Given the description of an element on the screen output the (x, y) to click on. 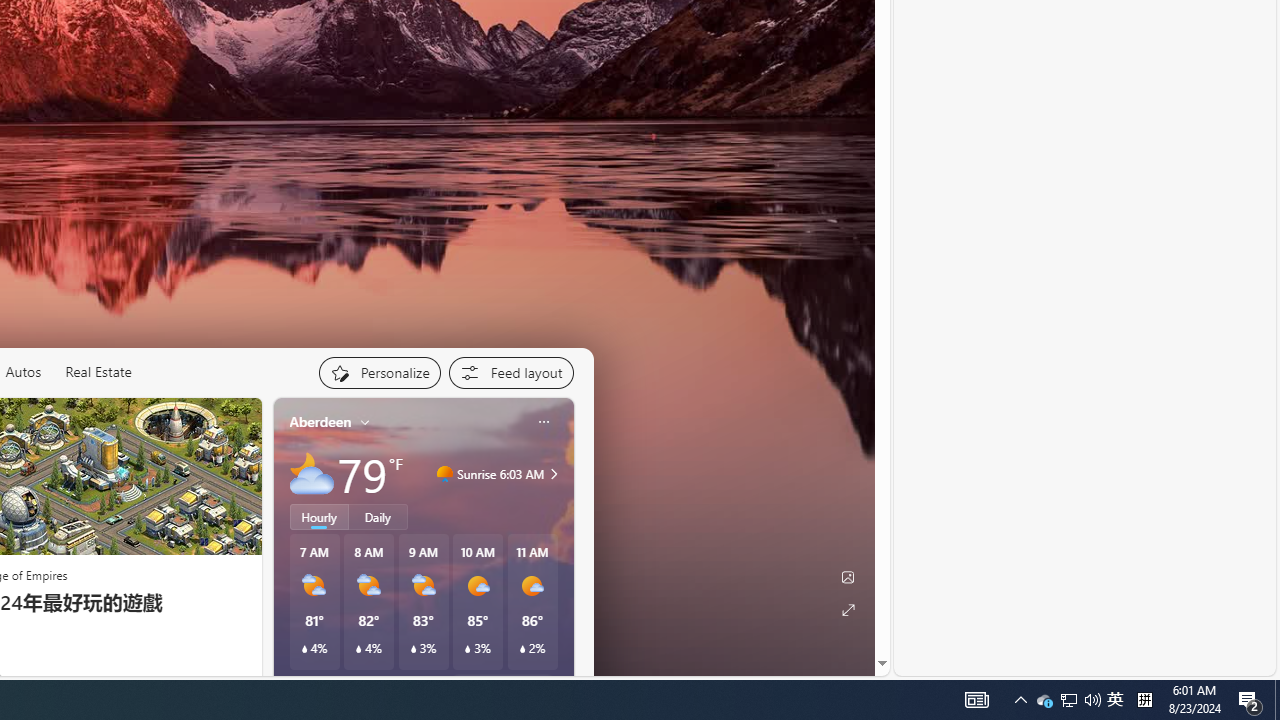
Class: weather-arrow-glyph (554, 474)
Hourly (319, 516)
Real Estate (97, 372)
Aberdeen (320, 422)
Ad Choice (238, 681)
My location (365, 421)
See full forecast (502, 685)
Class: weather-current-precipitation-glyph (522, 649)
Autos (22, 371)
Mostly cloudy (311, 474)
